Given the description of an element on the screen output the (x, y) to click on. 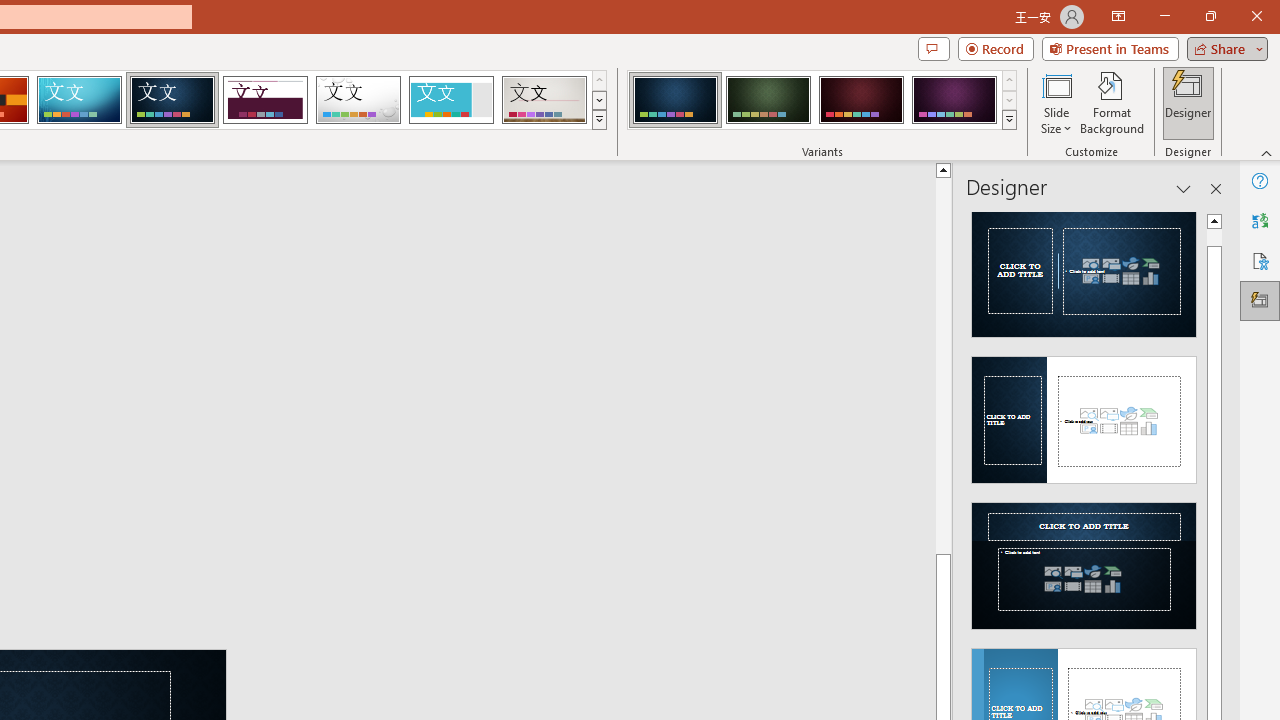
Frame (450, 100)
Damask (171, 100)
Damask Variant 3 (861, 100)
Damask Variant 2 (768, 100)
